Given the description of an element on the screen output the (x, y) to click on. 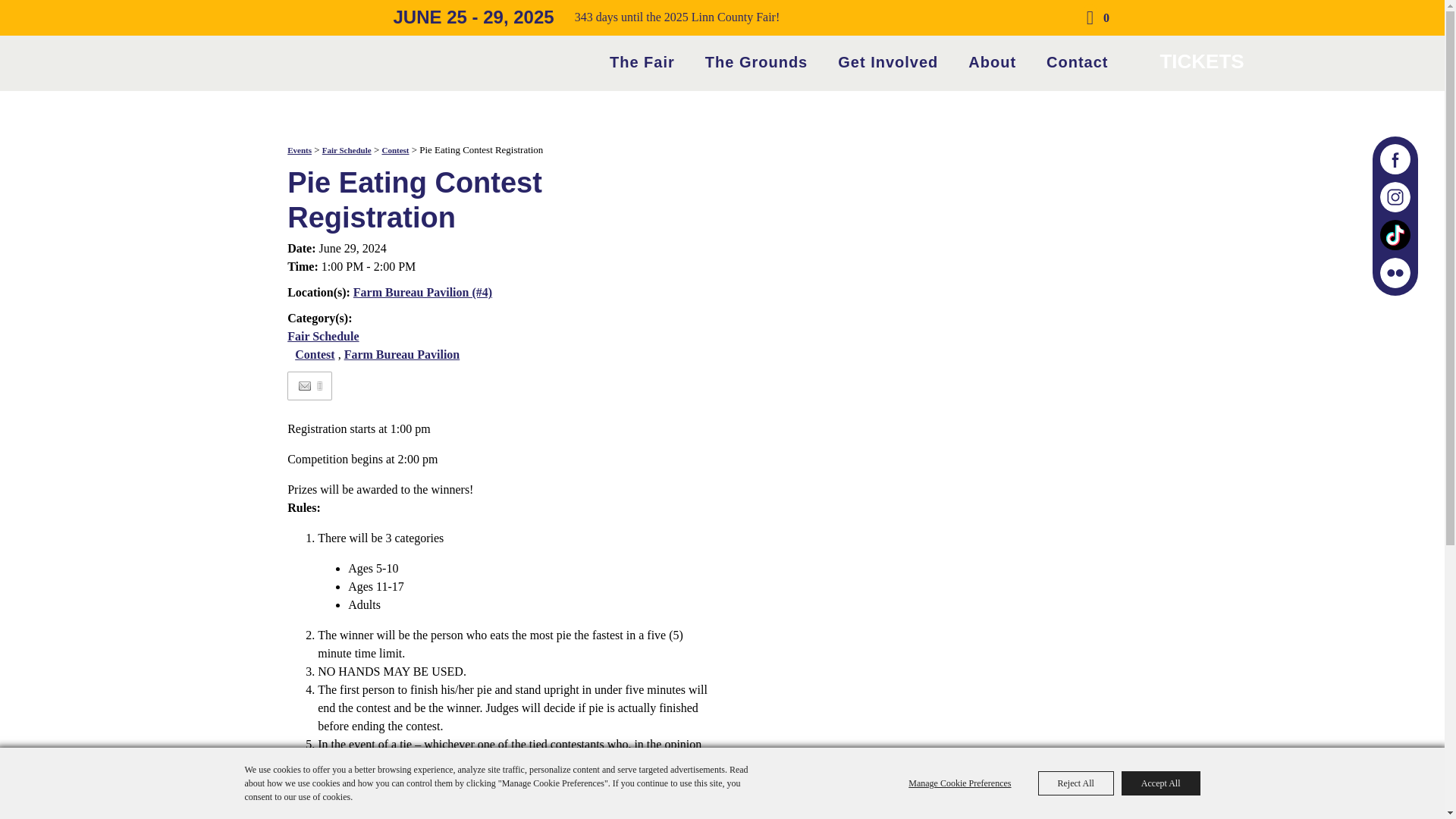
Get Involved (887, 61)
Email to Friend (304, 386)
About (991, 61)
The Fair (642, 61)
0 (1095, 17)
SEARCH (1052, 18)
The Grounds (756, 61)
Cart (1095, 17)
